Given the description of an element on the screen output the (x, y) to click on. 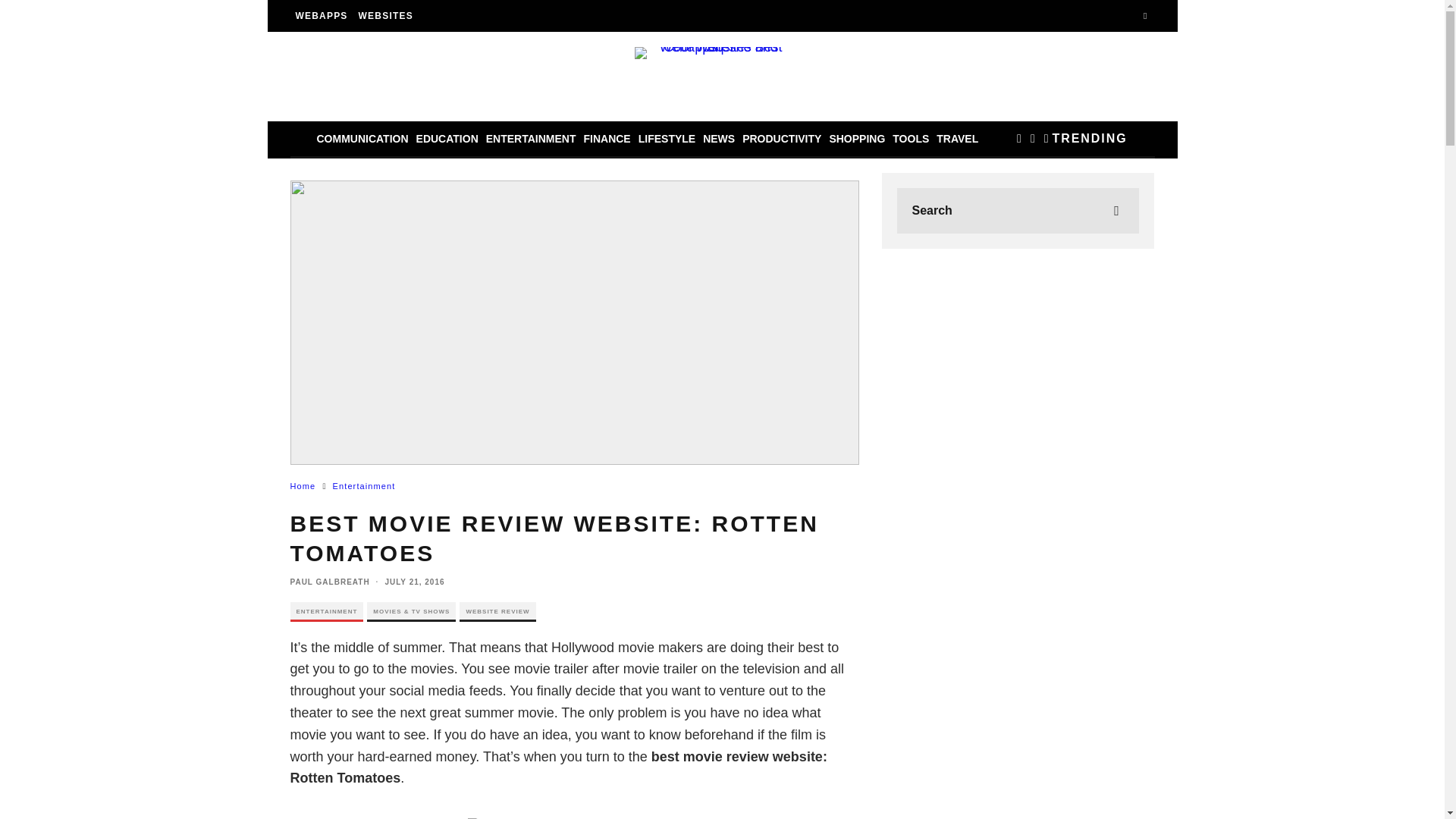
EDUCATION (446, 138)
ENTERTAINMENT (530, 138)
WEBSITES (386, 15)
WEBAPPS (320, 15)
COMMUNICATION (362, 138)
